Given the description of an element on the screen output the (x, y) to click on. 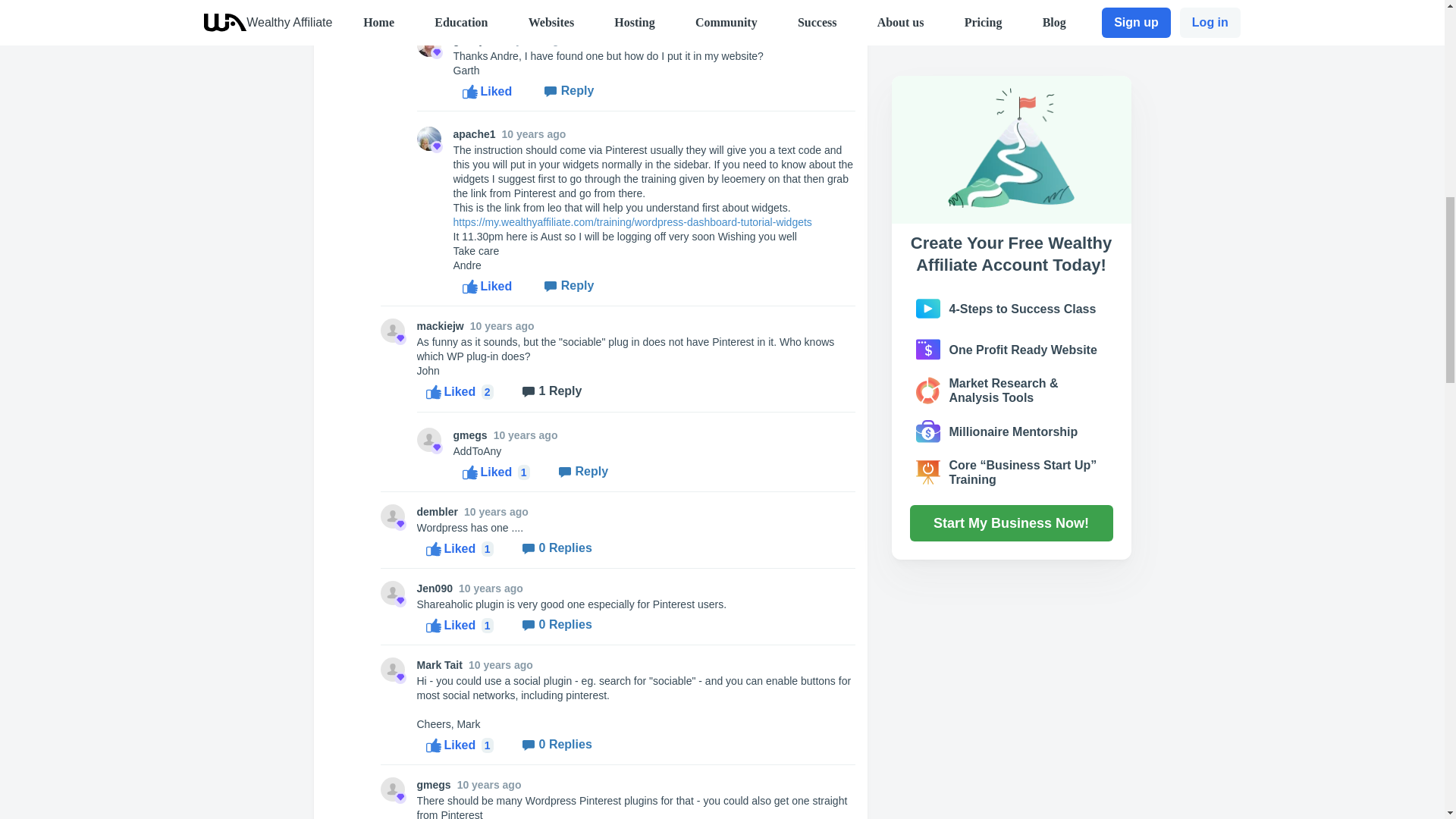
Mon, 11 Aug 2014 17:09:33 GMT (525, 435)
Tue, 12 Aug 2014 13:00:56 GMT (533, 39)
Tue, 12 Aug 2014 13:30:41 GMT (534, 133)
Mon, 11 Aug 2014 17:04:38 GMT (502, 326)
